Given the description of an element on the screen output the (x, y) to click on. 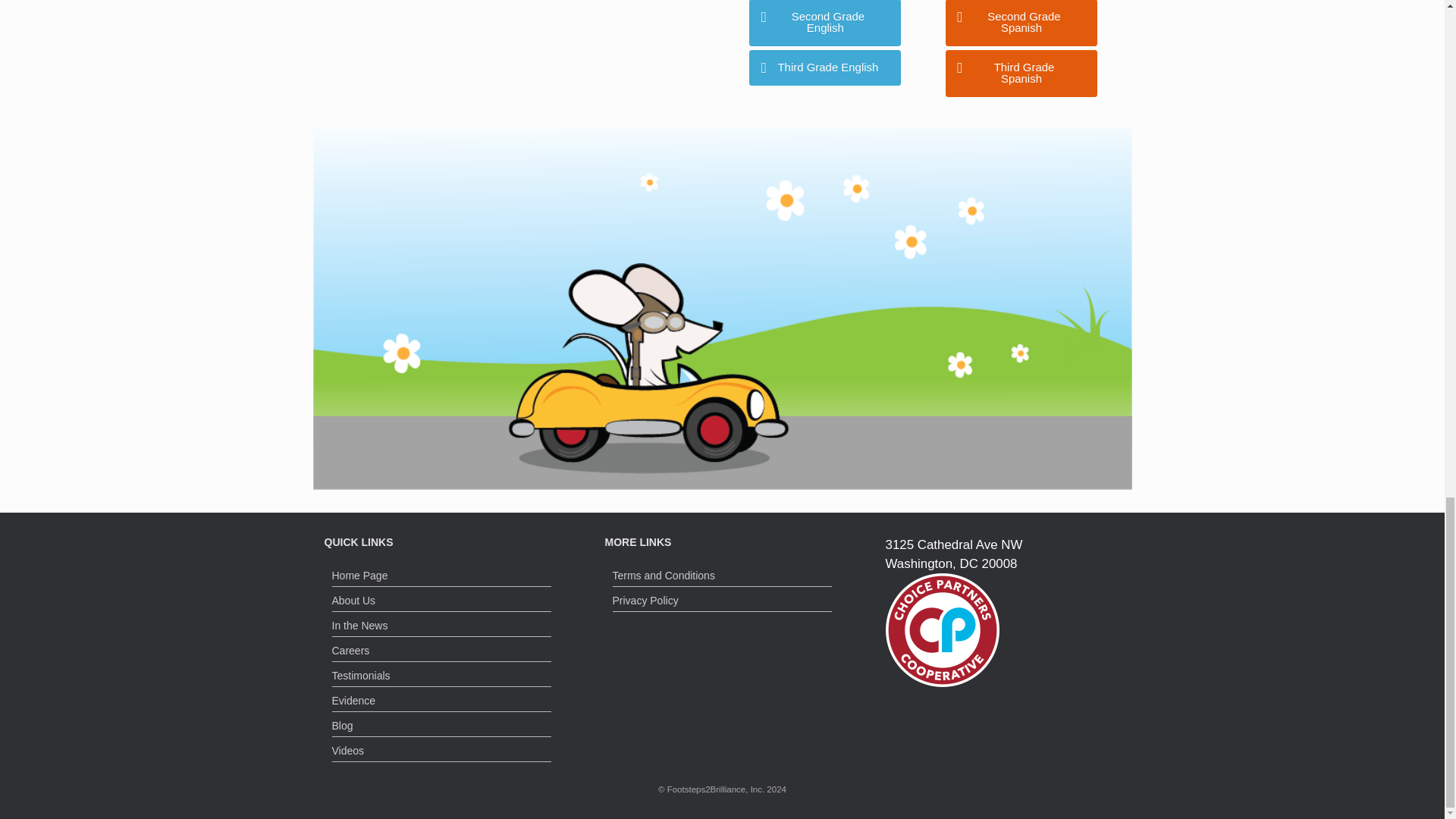
CP Seal 2018 (941, 630)
